Given the description of an element on the screen output the (x, y) to click on. 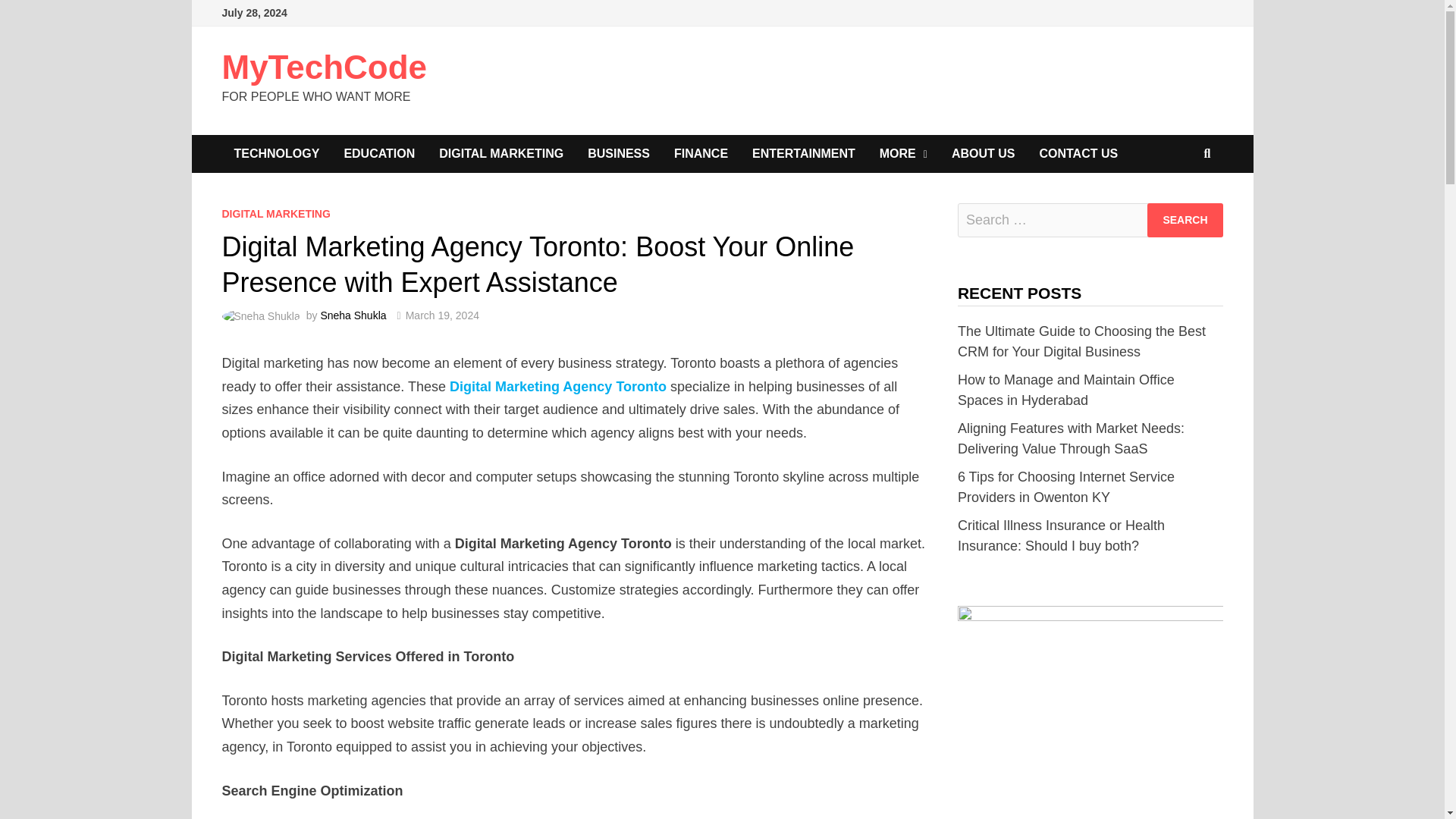
ABOUT US (983, 153)
TECHNOLOGY (276, 153)
Digital Marketing Agency Toronto (557, 386)
MyTechCode (323, 66)
March 19, 2024 (442, 315)
DIGITAL MARKETING (275, 214)
Search (1185, 220)
Search (1185, 220)
DIGITAL MARKETING (500, 153)
Sneha Shukla (352, 315)
ENTERTAINMENT (803, 153)
CONTACT US (1077, 153)
BUSINESS (618, 153)
EDUCATION (378, 153)
MORE (903, 153)
